Given the description of an element on the screen output the (x, y) to click on. 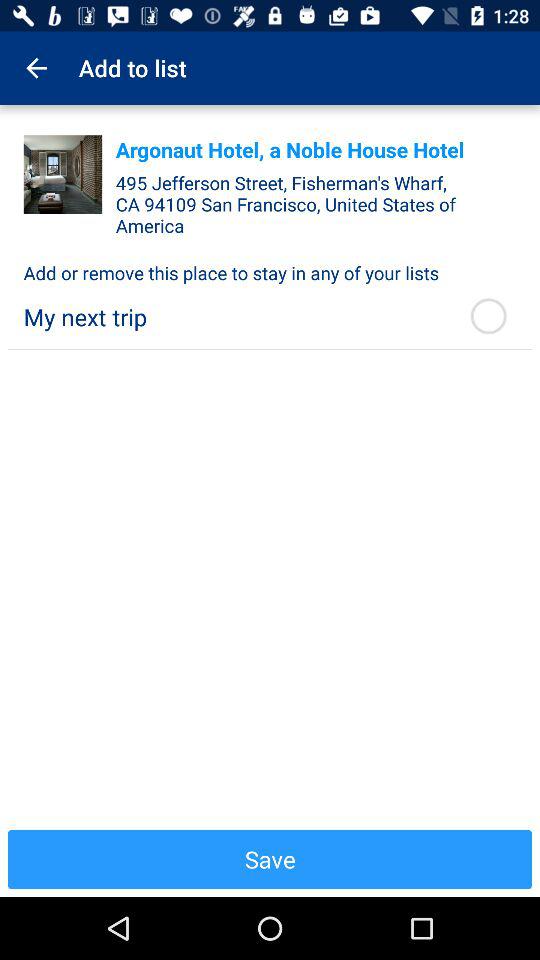
select app to the left of argonaut hotel a app (62, 174)
